Given the description of an element on the screen output the (x, y) to click on. 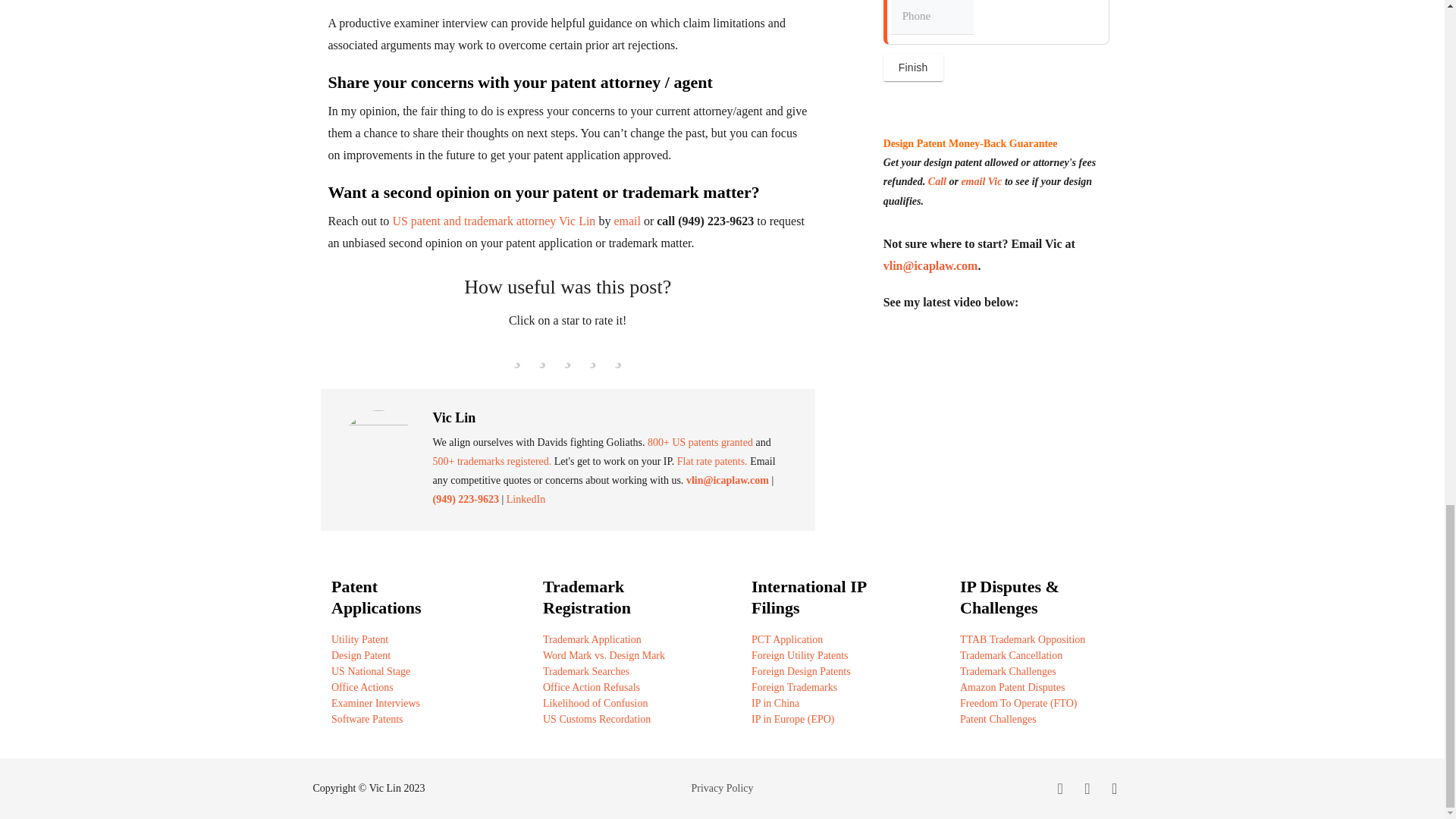
Finish (913, 67)
LinkedIn (525, 499)
US patent and trademark attorney Vic Lin (493, 220)
Flat rate patents. (712, 460)
email (626, 220)
